Given the description of an element on the screen output the (x, y) to click on. 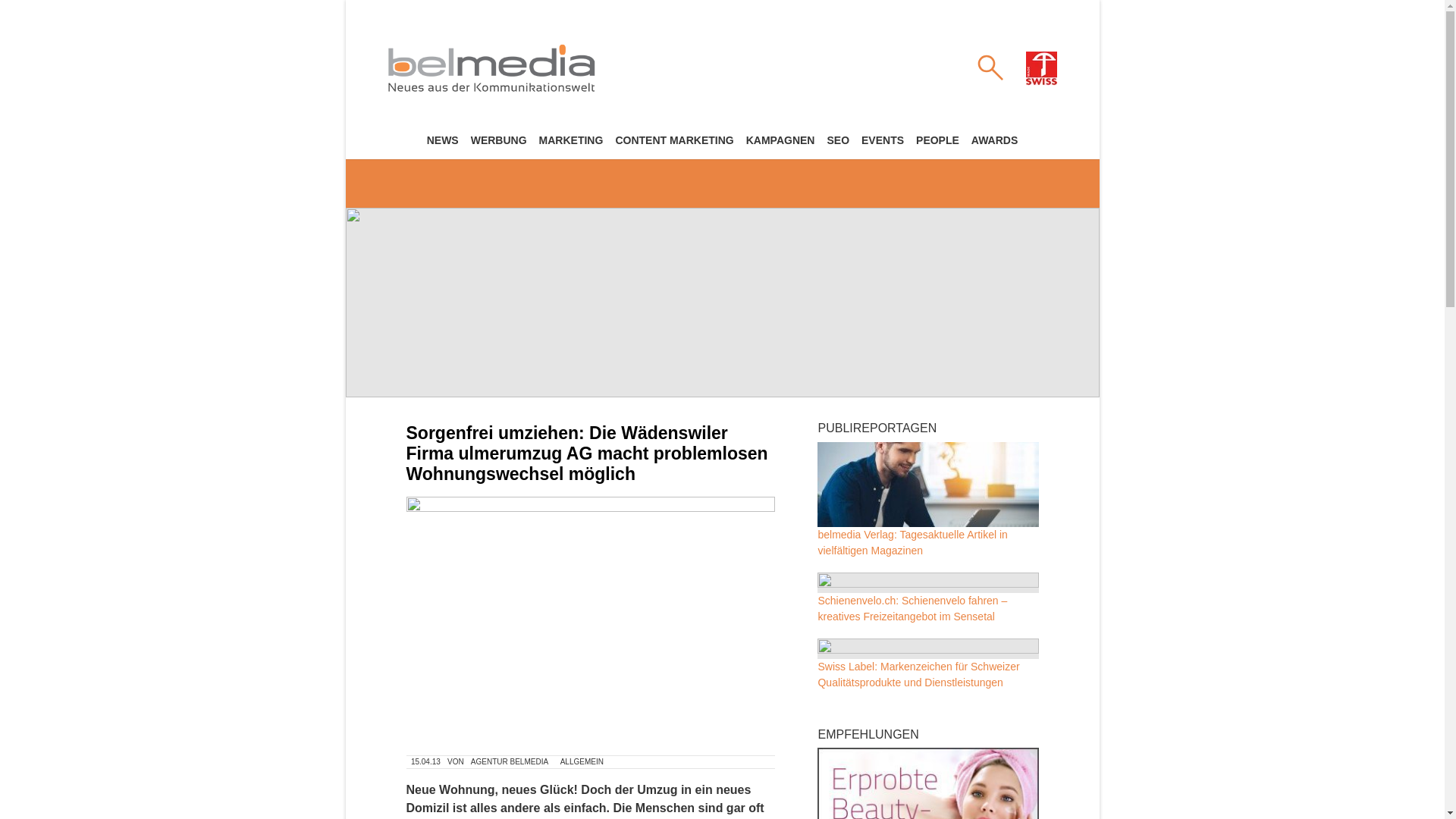
WERBUNG Element type: text (498, 140)
KAMPAGNEN Element type: text (780, 140)
EVENTS Element type: text (882, 140)
CONTENT MARKETING Element type: text (673, 140)
ALLGEMEIN Element type: text (581, 762)
15.04.13 Element type: text (425, 762)
PEOPLE Element type: text (937, 140)
AWARDS Element type: text (994, 140)
NEWS Element type: text (442, 140)
MARKETING Element type: text (571, 140)
SEO Element type: text (837, 140)
AGENTUR BELMEDIA Element type: text (508, 762)
